Given the description of an element on the screen output the (x, y) to click on. 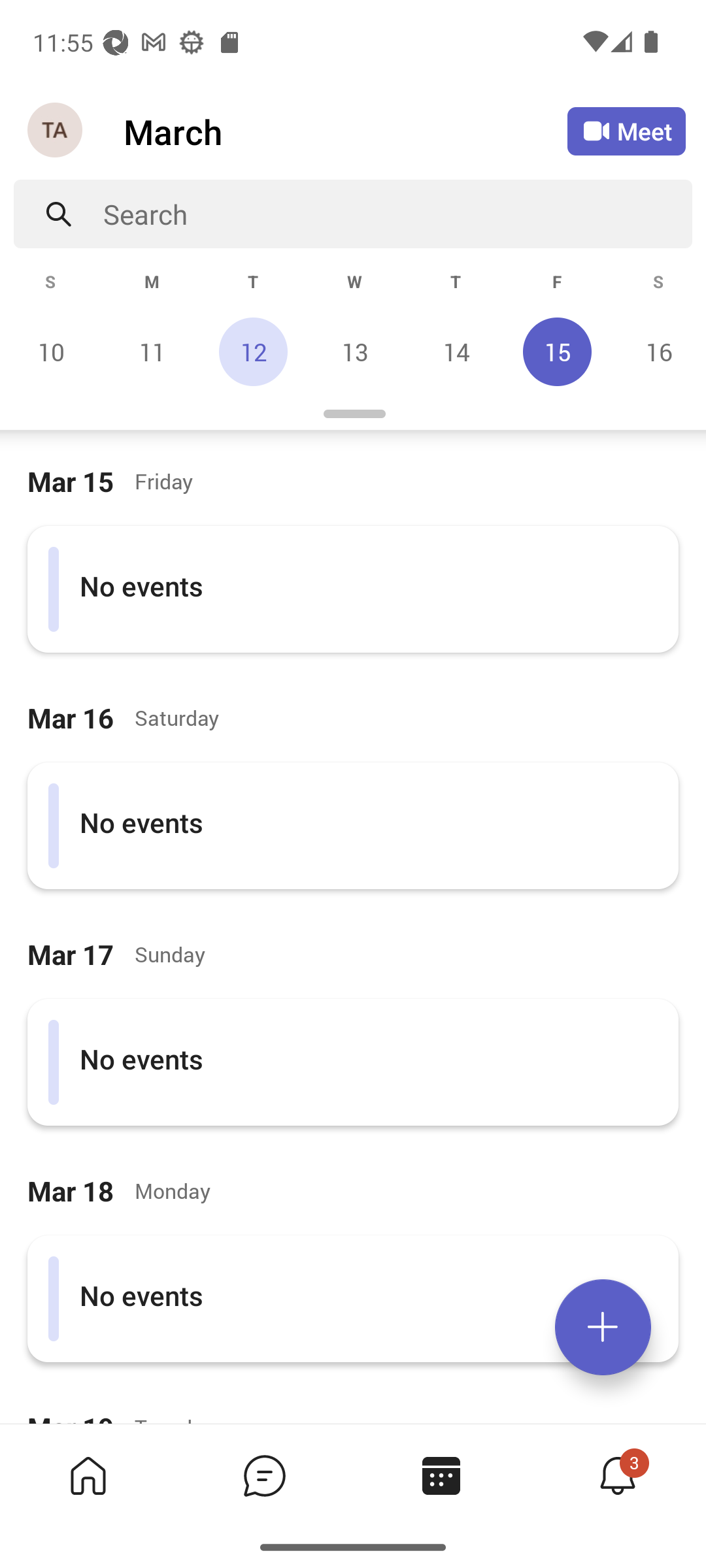
Navigation (56, 130)
Meet Meet now or join with an ID (626, 130)
March March Calendar Agenda View (345, 131)
Search (397, 213)
Sunday, March 10 10 (50, 351)
Monday, March 11 11 (151, 351)
Tuesday, March 12, Today 12 (253, 351)
Wednesday, March 13 13 (354, 351)
Thursday, March 14 14 (455, 351)
Friday, March 15, Selected 15 (556, 351)
Saturday, March 16 16 (656, 351)
Expand meetings menu (602, 1327)
Home tab,1 of 4, not selected (88, 1475)
Chat tab,2 of 4, not selected (264, 1475)
Calendar tab, 3 of 4 (441, 1475)
Activity tab,4 of 4, not selected, 3 new 3 (617, 1475)
